Given the description of an element on the screen output the (x, y) to click on. 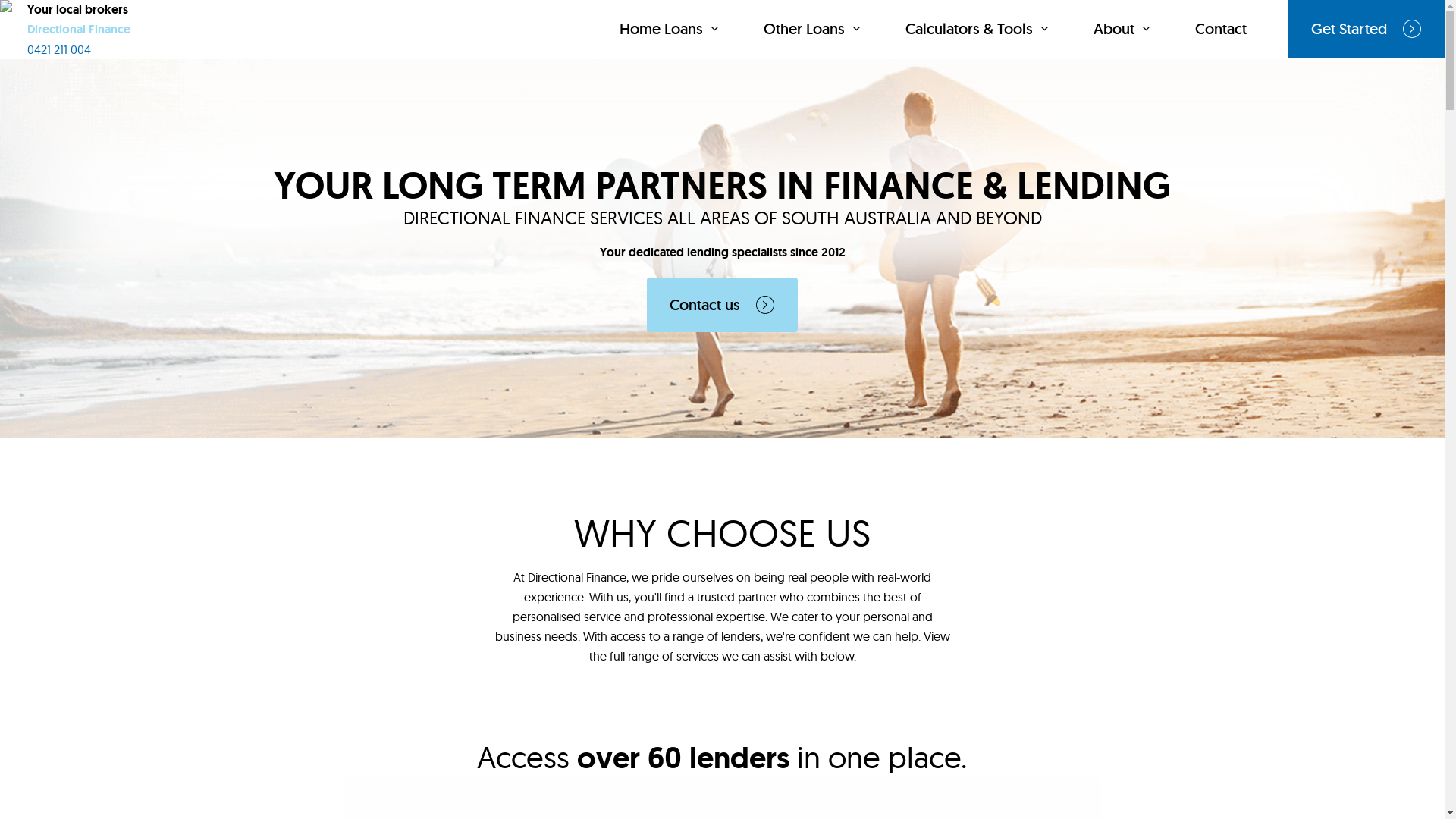
0421 211 004 Element type: text (59, 48)
Contact us Element type: text (721, 304)
Contact Element type: text (1220, 28)
Get Started Element type: text (1366, 28)
